Given the description of an element on the screen output the (x, y) to click on. 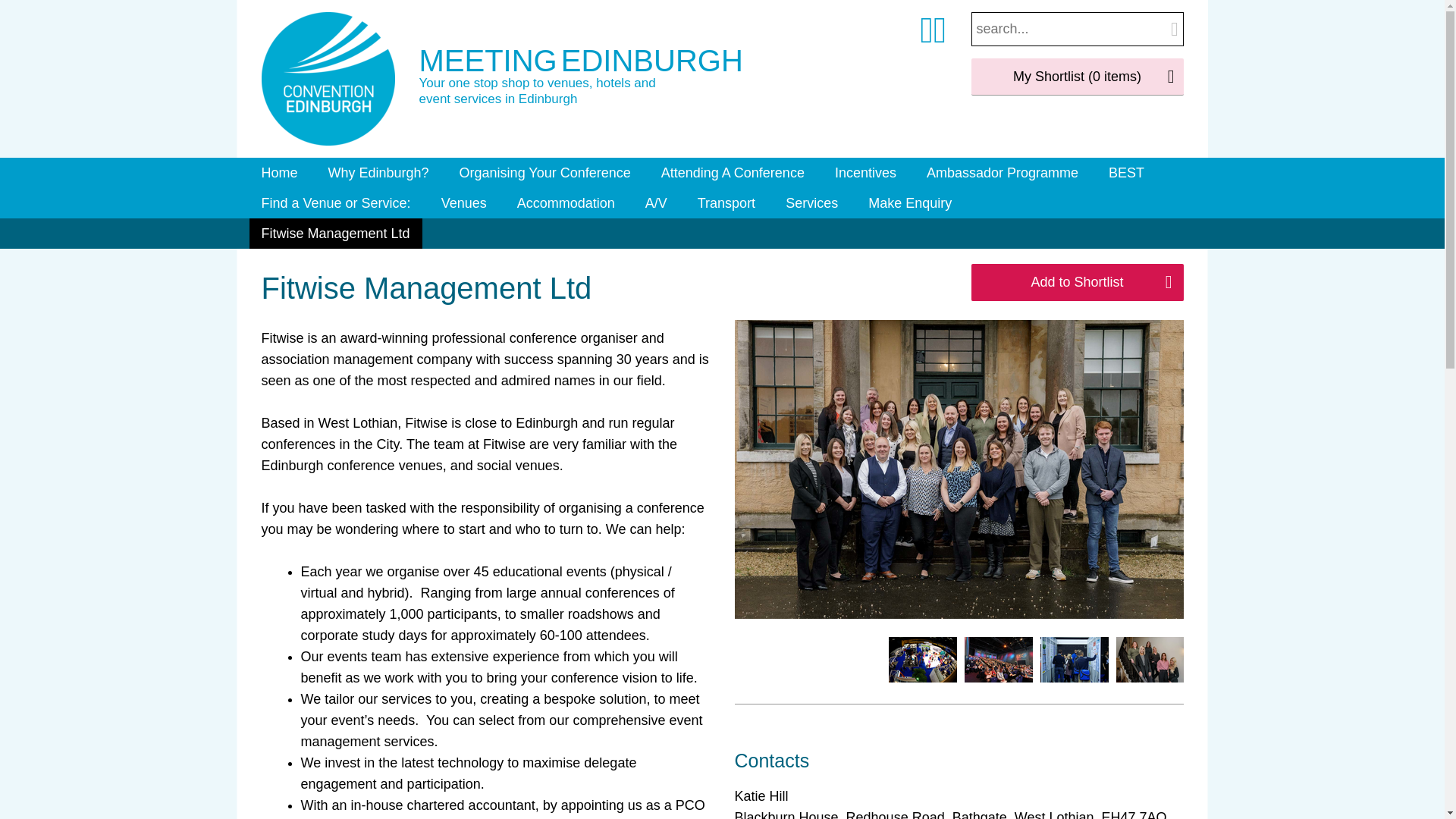
Services (811, 203)
Transport (726, 203)
Why Edinburgh? (378, 173)
Venues (464, 203)
Attending A Conference (732, 173)
Make Enquiry (909, 203)
Accommodation (566, 203)
Ambassador Programme (1002, 173)
Fitwise Management Ltd (335, 233)
Organising Your Conference (544, 173)
BEST (1126, 173)
Home (278, 173)
Incentives (865, 173)
